Given the description of an element on the screen output the (x, y) to click on. 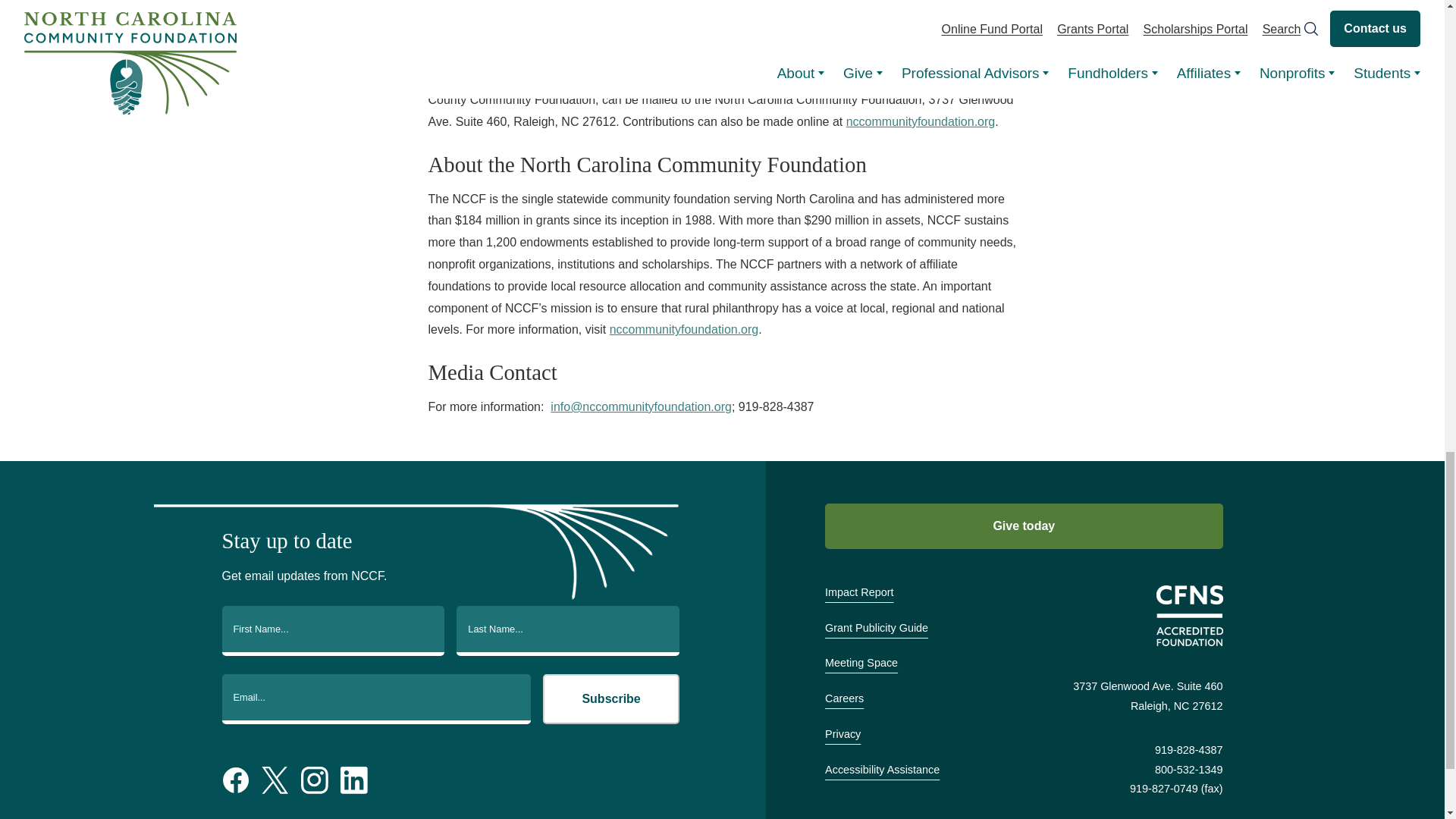
Subscribe (611, 698)
